Given the description of an element on the screen output the (x, y) to click on. 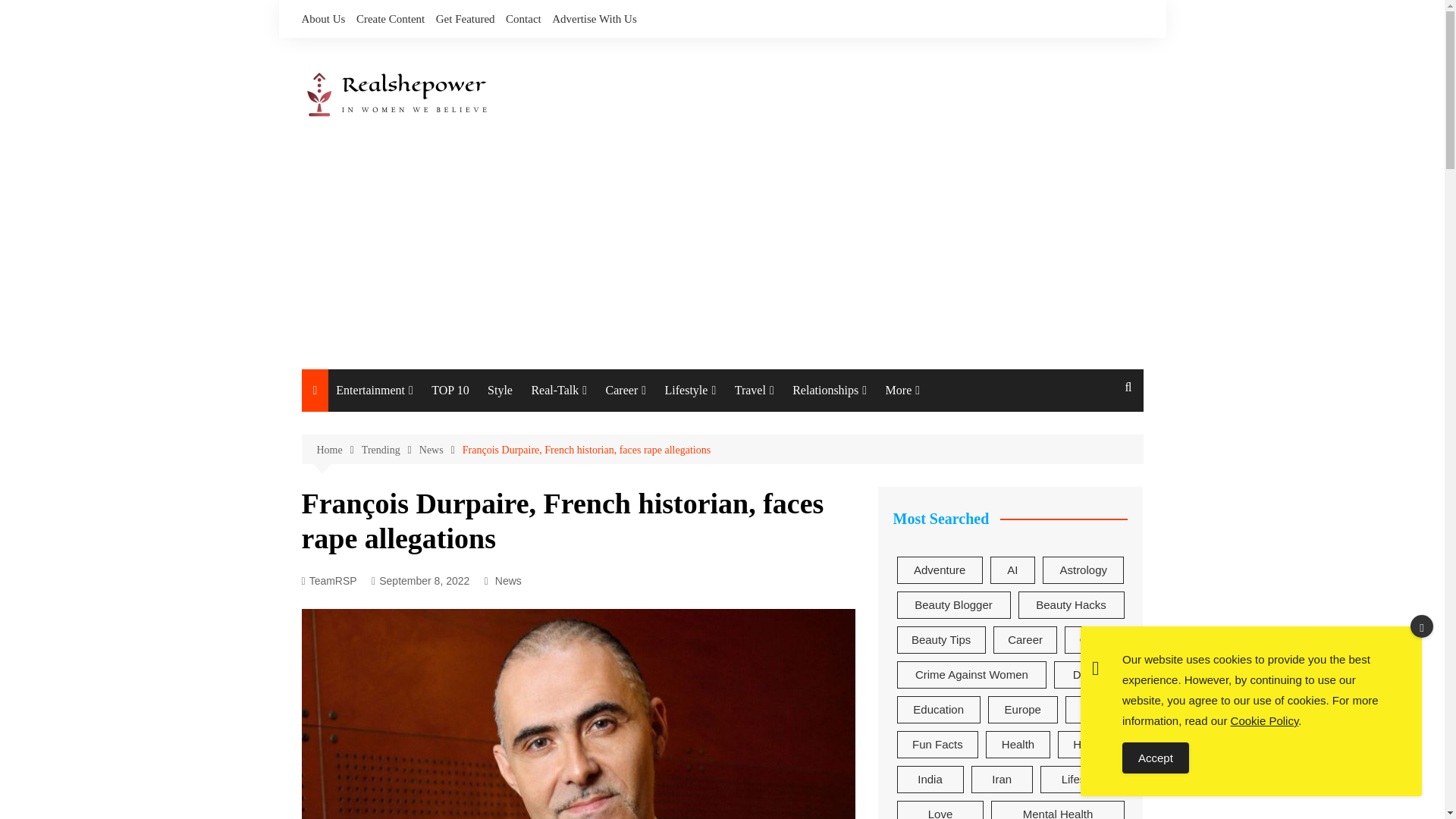
Optical Illusions (412, 525)
Animals (578, 492)
Books (412, 591)
Women in Science (773, 427)
Style (499, 390)
About Us (323, 18)
Get Featured (465, 18)
Advertise With Us (594, 18)
Contact (523, 18)
Artists (773, 591)
